Given the description of an element on the screen output the (x, y) to click on. 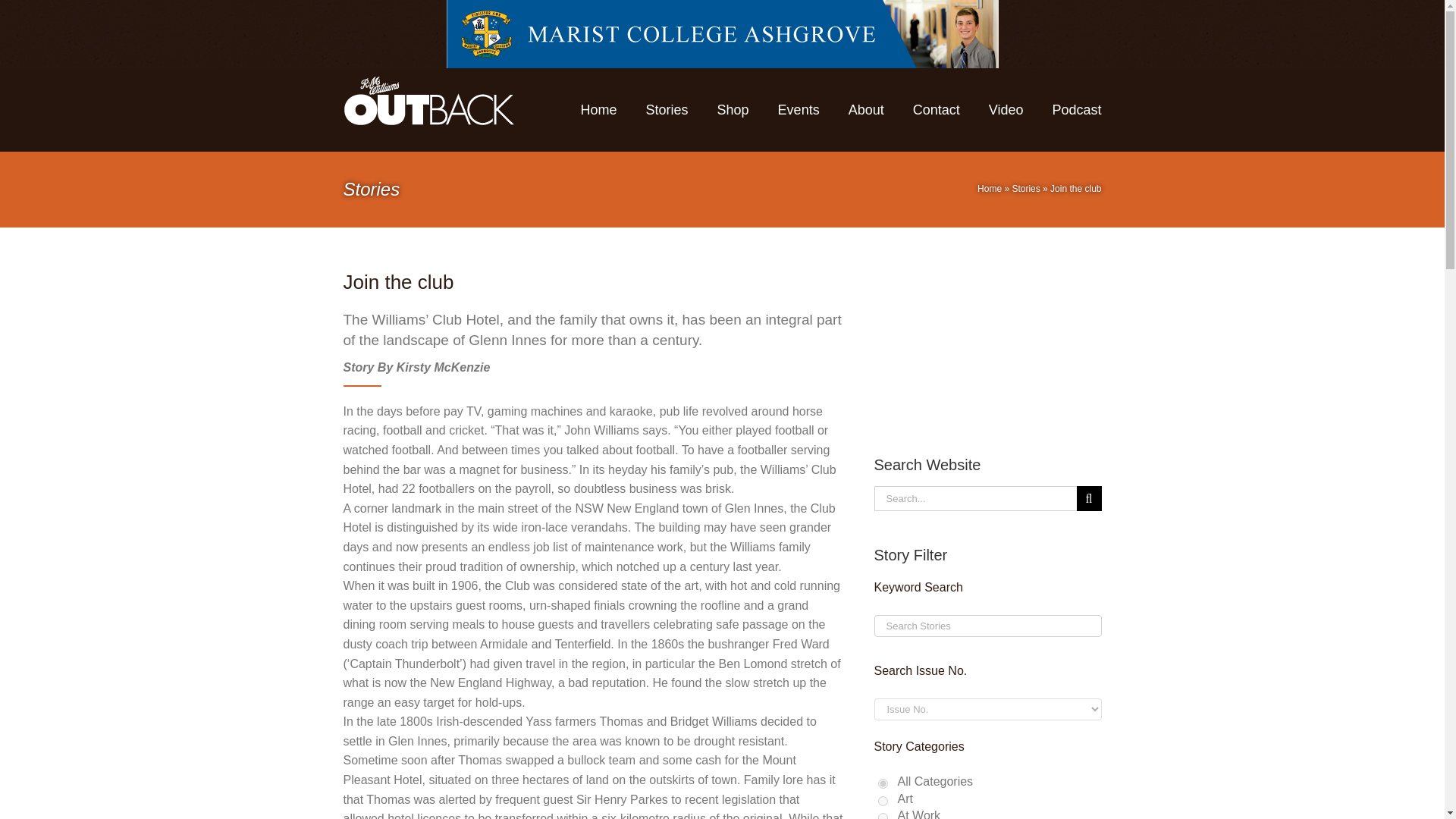
Home (988, 188)
at-work (882, 816)
Stories (1025, 188)
art (882, 800)
